Given the description of an element on the screen output the (x, y) to click on. 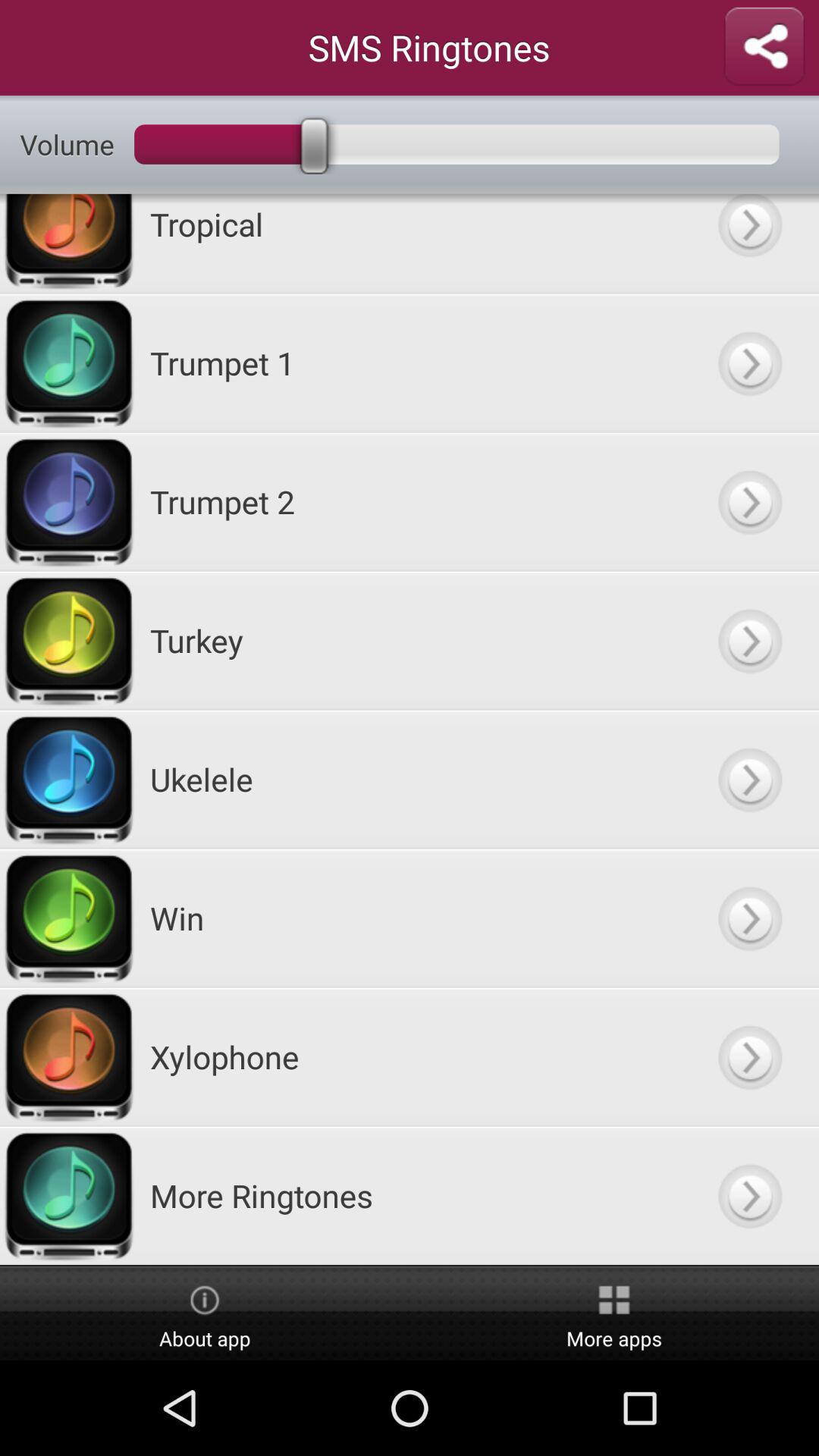
click more details arrow (749, 918)
